Given the description of an element on the screen output the (x, y) to click on. 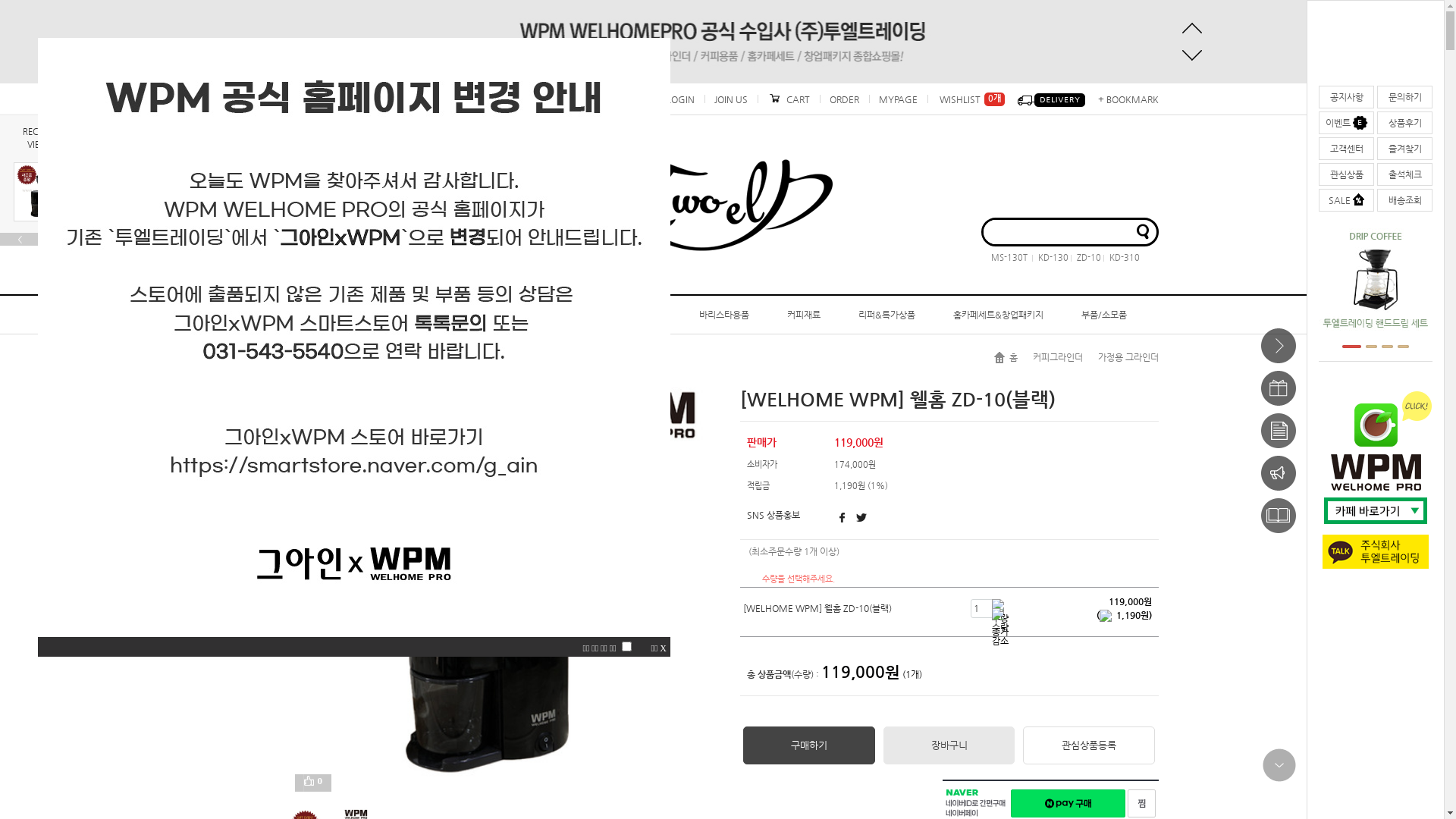
MS-130T Element type: text (1008, 257)
  Element type: text (1051, 99)
KD-310 Element type: text (1120, 257)
 MYPAGE Element type: text (898, 99)
 JOIN US Element type: text (729, 99)
RECENTLY
VIEWED Element type: text (42, 137)
3 Element type: text (1379, 346)
   CART Element type: text (787, 99)
ZD-10 Element type: text (1085, 257)
 LOGIN Element type: text (680, 99)
1 Element type: text (1347, 346)
4 Element type: text (1399, 346)
 ORDER Element type: text (843, 99)
SALE Element type: text (1346, 200)
KD-130 Element type: text (1049, 257)
+ BOOKMARK Element type: text (1125, 99)
0 Element type: text (317, 782)
2 Element type: text (1363, 346)
